Given the description of an element on the screen output the (x, y) to click on. 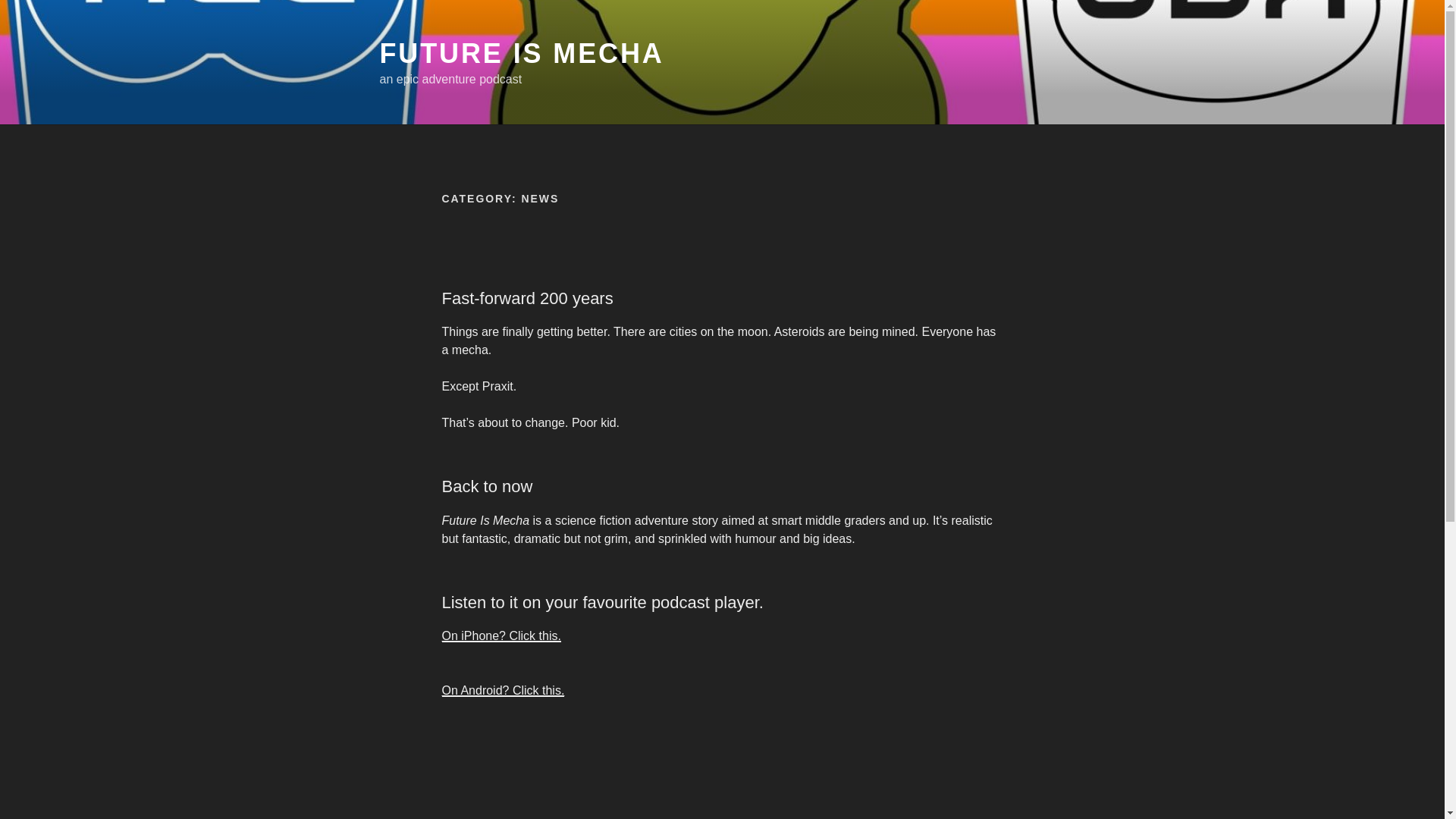
FUTURE IS MECHA (520, 52)
On Android? Click this. (502, 689)
On iPhone? Click this. (500, 635)
